Given the description of an element on the screen output the (x, y) to click on. 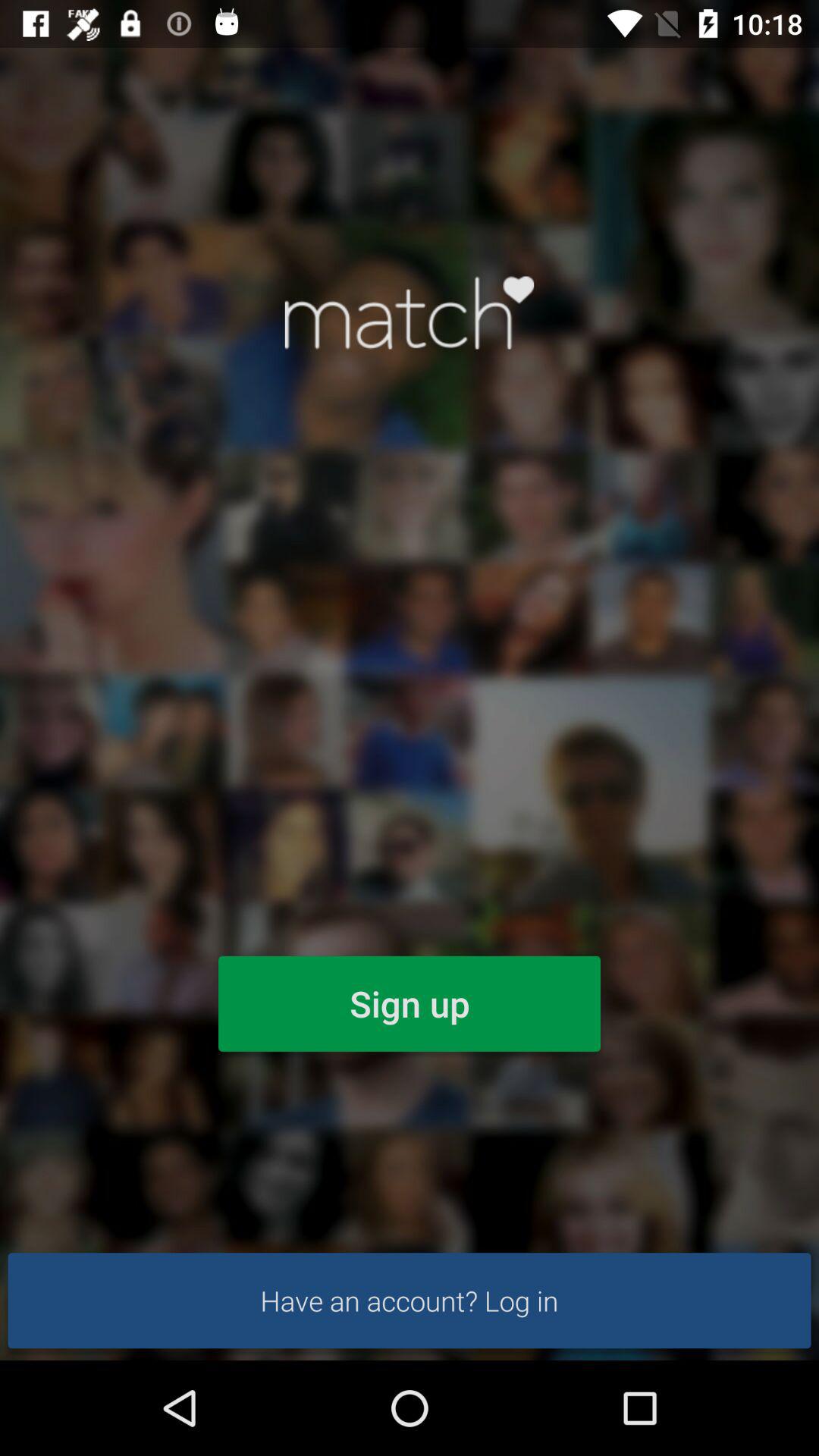
login (409, 312)
